Given the description of an element on the screen output the (x, y) to click on. 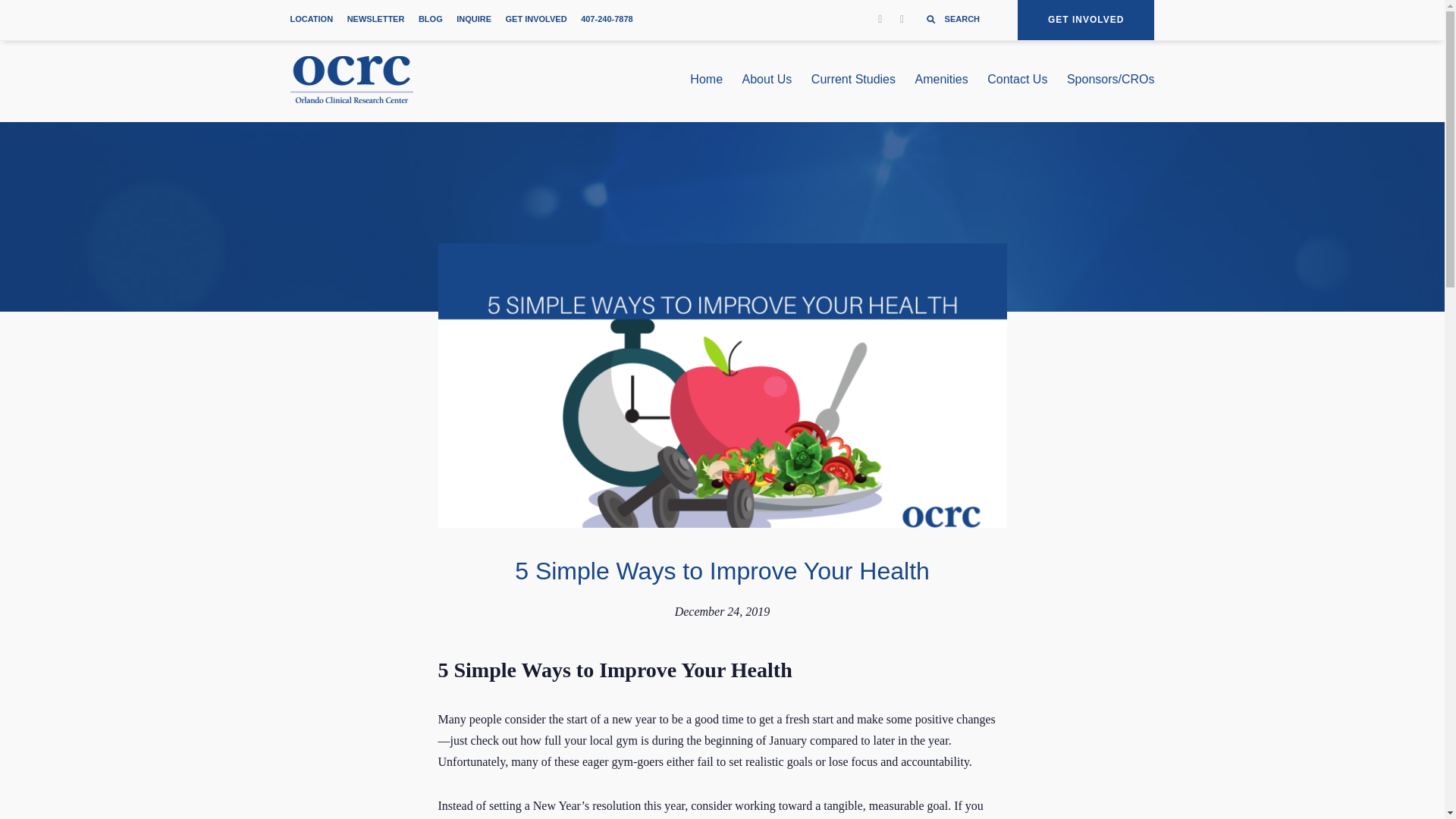
Contact Us (1016, 81)
Get Involved (1085, 20)
GET INVOLVED (1085, 20)
407-240-7878 (606, 19)
About Us (767, 81)
Amenities (941, 81)
GET INVOLVED (536, 19)
Home (706, 81)
Current Studies (852, 81)
LOCATION (311, 19)
NEWSLETTER (375, 19)
